Given the description of an element on the screen output the (x, y) to click on. 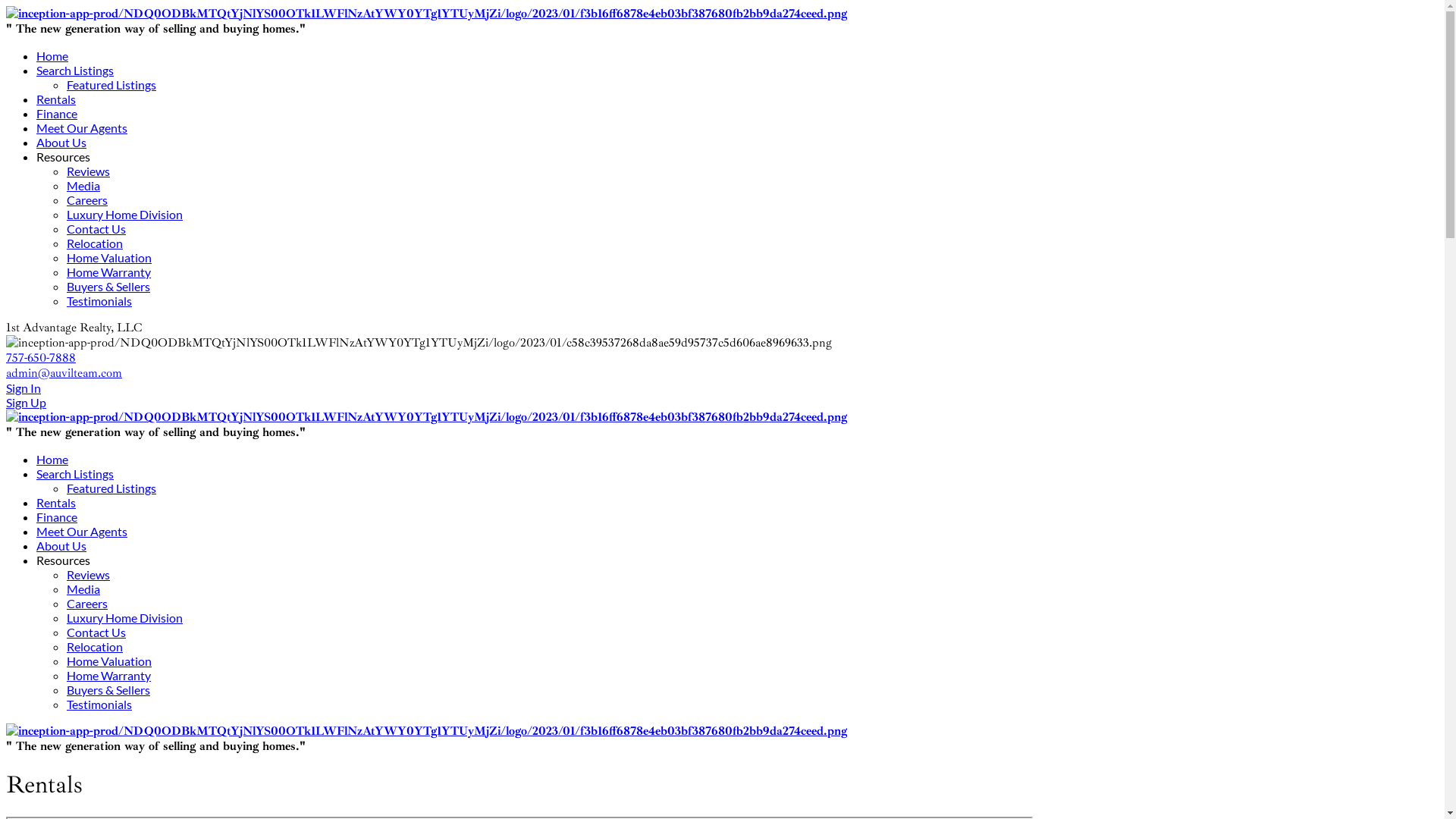
Luxury Home Division Element type: text (124, 214)
Luxury Home Division Element type: text (124, 617)
Search Listings Element type: text (74, 69)
Rentals Element type: text (55, 502)
Sign Up Element type: text (722, 402)
Buyers & Sellers Element type: text (108, 286)
757-650-7888 Element type: text (40, 357)
Meet Our Agents Element type: text (81, 531)
Reviews Element type: text (87, 170)
Relocation Element type: text (94, 242)
Resources Element type: text (63, 156)
Finance Element type: text (56, 113)
Testimonials Element type: text (98, 703)
Contact Us Element type: text (95, 631)
Reviews Element type: text (87, 574)
Homepage Element type: hover (426, 13)
Home Element type: text (52, 55)
Featured Listings Element type: text (111, 487)
Rentals Element type: hover (418, 342)
Finance Element type: text (56, 516)
Homepage Element type: hover (426, 416)
Resources Element type: text (63, 559)
admin@auvilteam.com Element type: text (64, 372)
Careers Element type: text (86, 603)
Home Element type: text (52, 458)
Search Listings Element type: text (74, 473)
Careers Element type: text (86, 199)
Contact Us Element type: text (95, 228)
About Us Element type: text (61, 545)
Meet Our Agents Element type: text (81, 127)
Home Warranty Element type: text (108, 675)
Media Element type: text (83, 588)
Home Valuation Element type: text (108, 660)
Home Warranty Element type: text (108, 271)
Homepage Element type: hover (426, 730)
Buyers & Sellers Element type: text (108, 689)
Rentals Element type: text (55, 98)
Home Valuation Element type: text (108, 257)
Sign In Element type: text (722, 387)
Featured Listings Element type: text (111, 84)
About Us Element type: text (61, 141)
Testimonials Element type: text (98, 300)
Relocation Element type: text (94, 646)
Media Element type: text (83, 185)
